Given the description of an element on the screen output the (x, y) to click on. 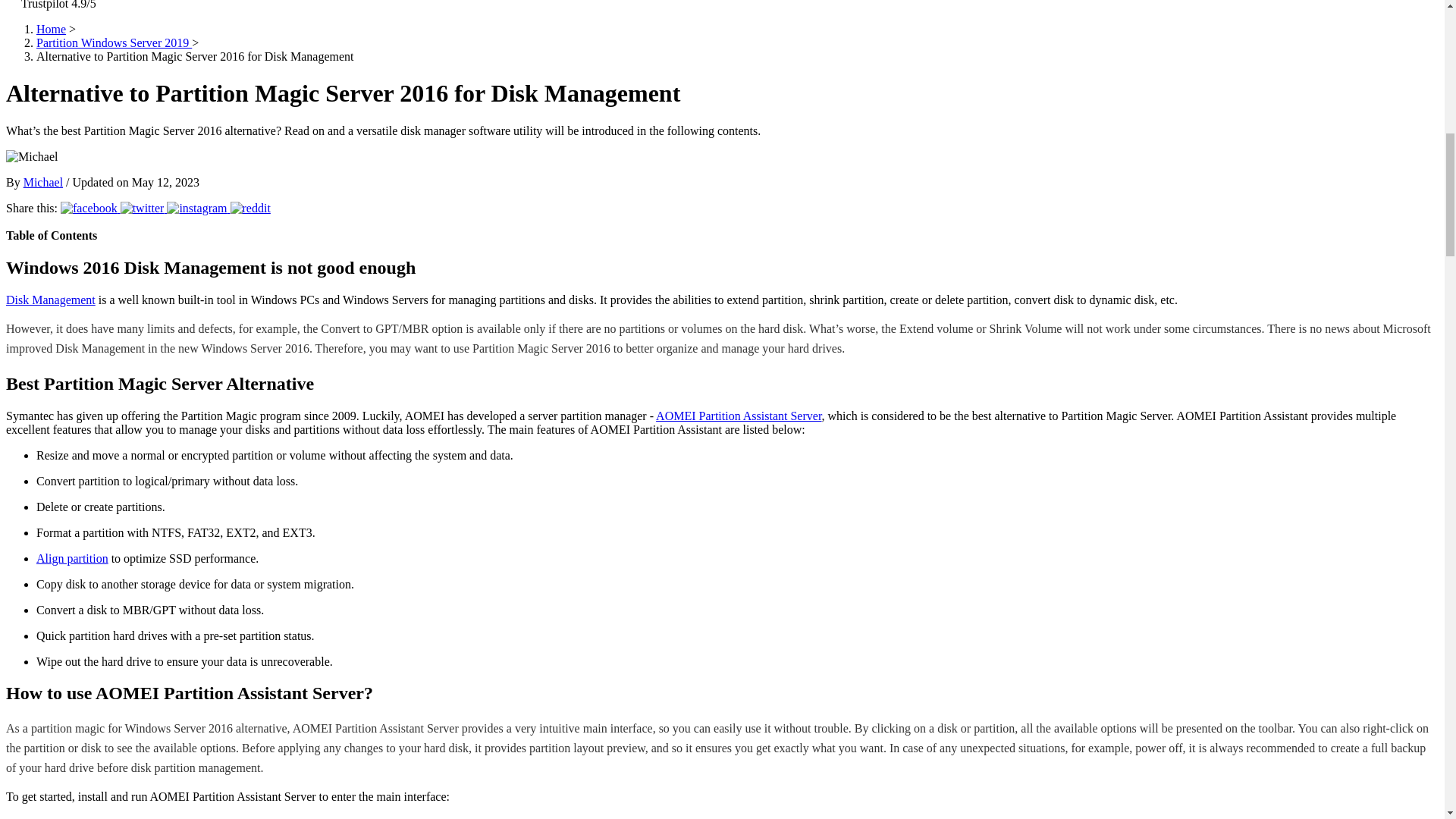
Michael (42, 182)
Home (50, 29)
Partition Windows Server 2019 (114, 42)
